Given the description of an element on the screen output the (x, y) to click on. 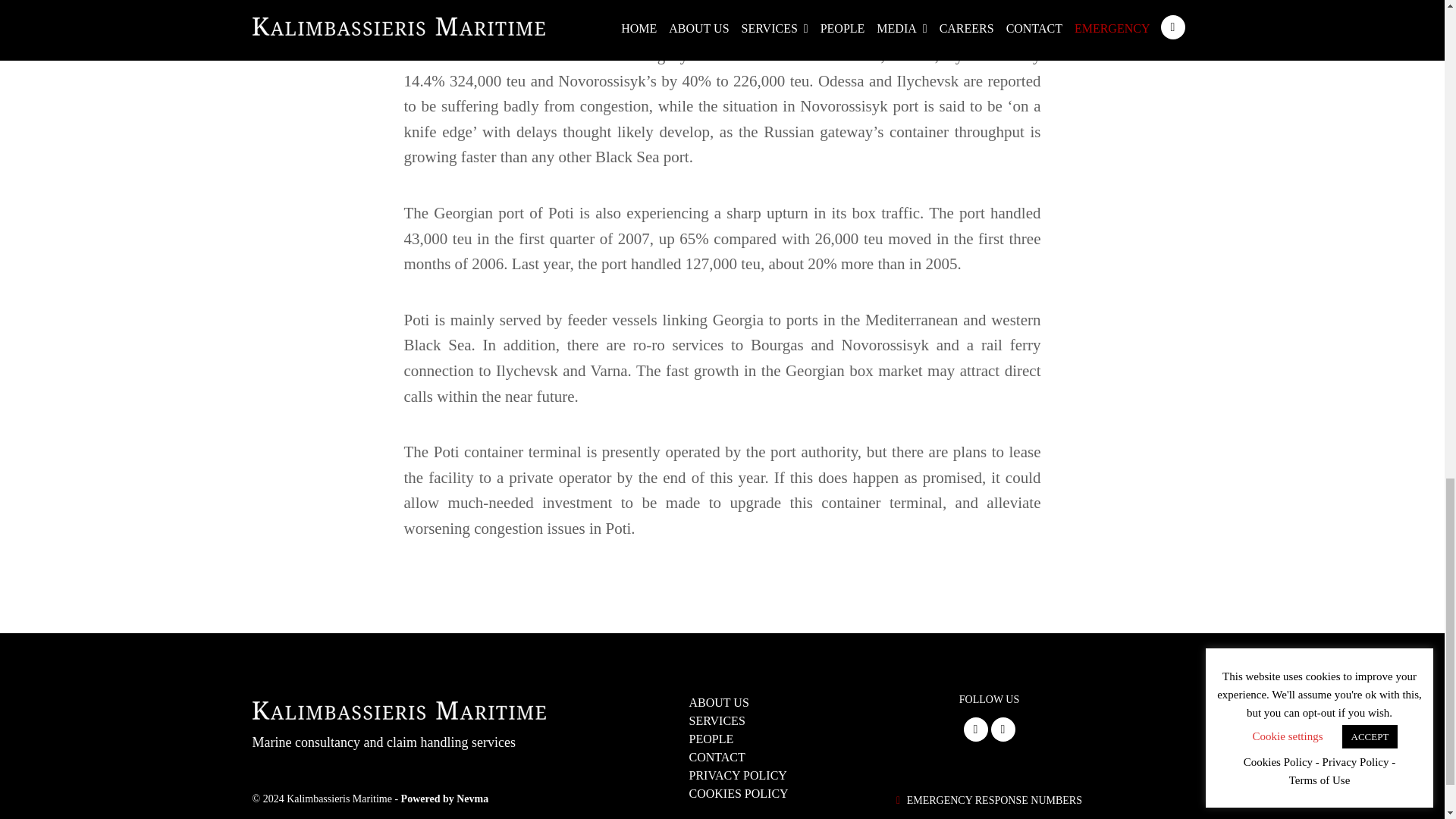
COOKIES POLICY (721, 792)
Kalimbassieris Maritime - Home page (397, 707)
Powered by Nevma (445, 798)
SERVICES (721, 720)
ABOUT US (721, 701)
Nevma (445, 798)
CONTACT (721, 756)
Instagram page (1002, 729)
LinkedIn page (974, 729)
EMERGENCY RESPONSE NUMBERS (994, 800)
PEOPLE (721, 738)
PRIVACY POLICY (721, 774)
